Given the description of an element on the screen output the (x, y) to click on. 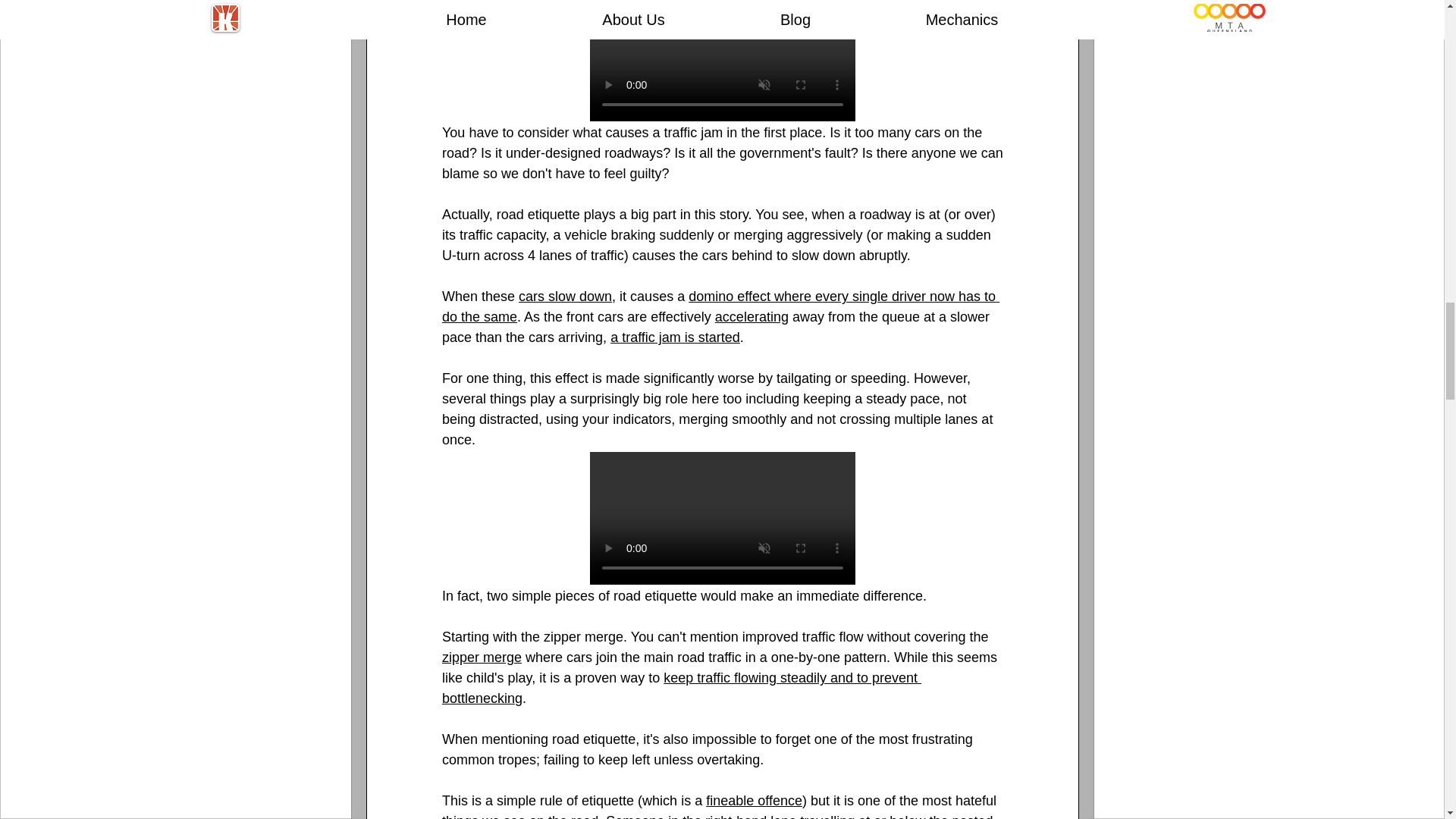
accelerating (750, 316)
keep traffic flowing steadily and to prevent bottlenecking (680, 687)
cars slow down (564, 296)
a traffic jam is started (674, 337)
fineable offence (754, 800)
zipper merge (481, 657)
